Given the description of an element on the screen output the (x, y) to click on. 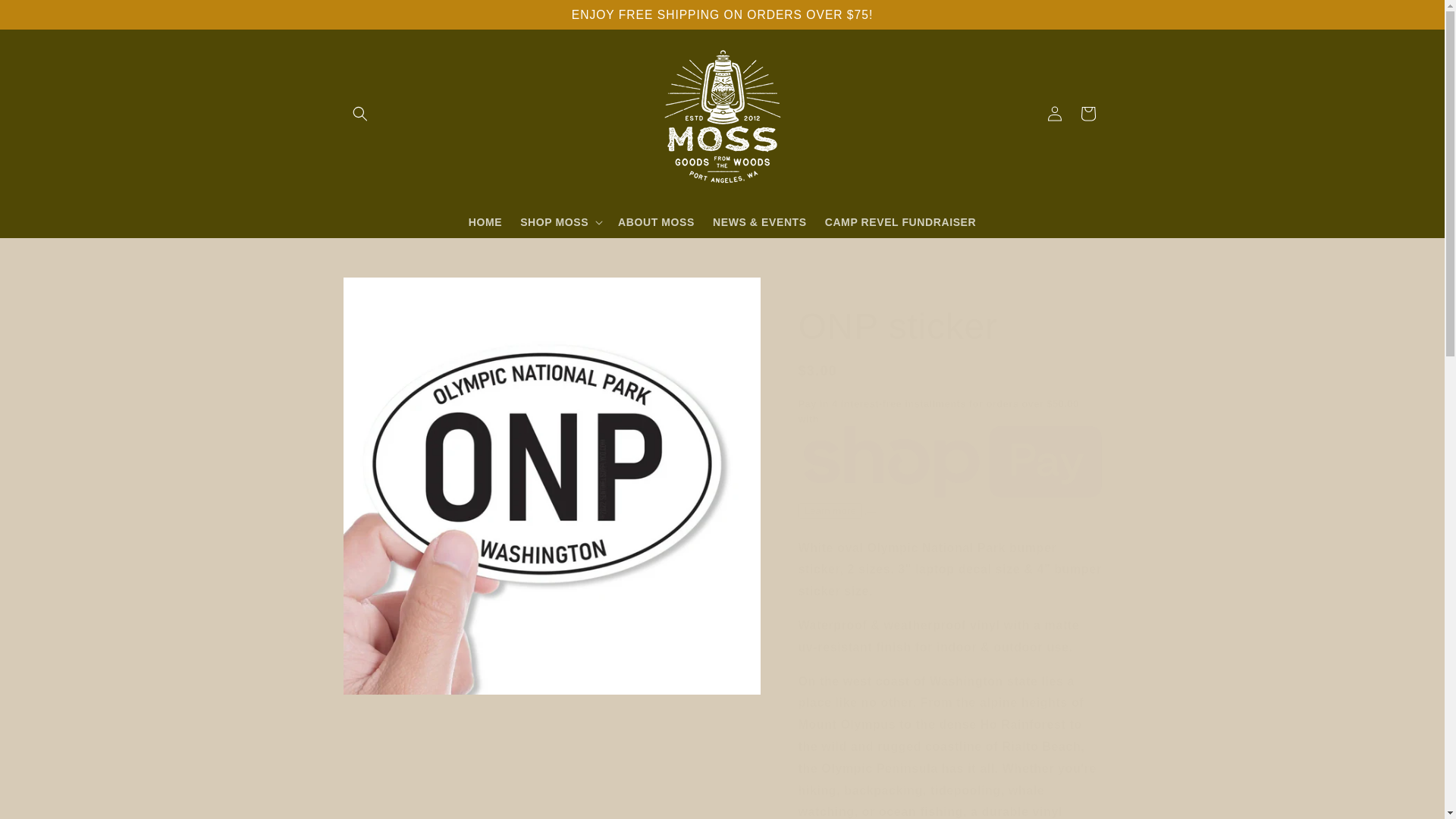
Skip to content (45, 17)
